Given the description of an element on the screen output the (x, y) to click on. 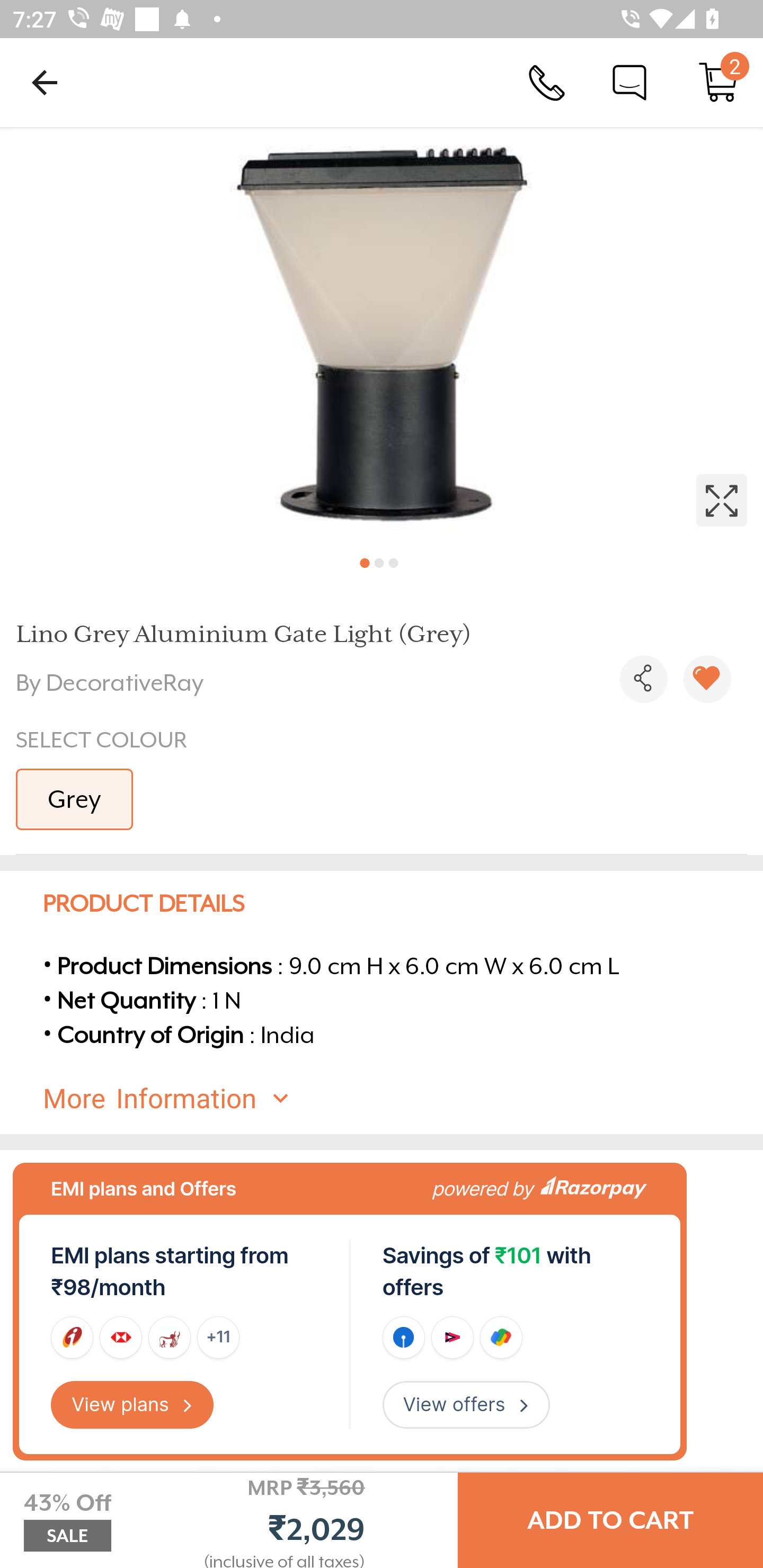
Navigate up (44, 82)
Call Us (546, 81)
Chat (629, 81)
Cart (718, 81)
 (381, 334)
 (643, 678)
 (706, 678)
Grey (74, 798)
More Information  (396, 1098)
View plans (132, 1404)
View offers (465, 1404)
ADD TO CART (610, 1520)
